Given the description of an element on the screen output the (x, y) to click on. 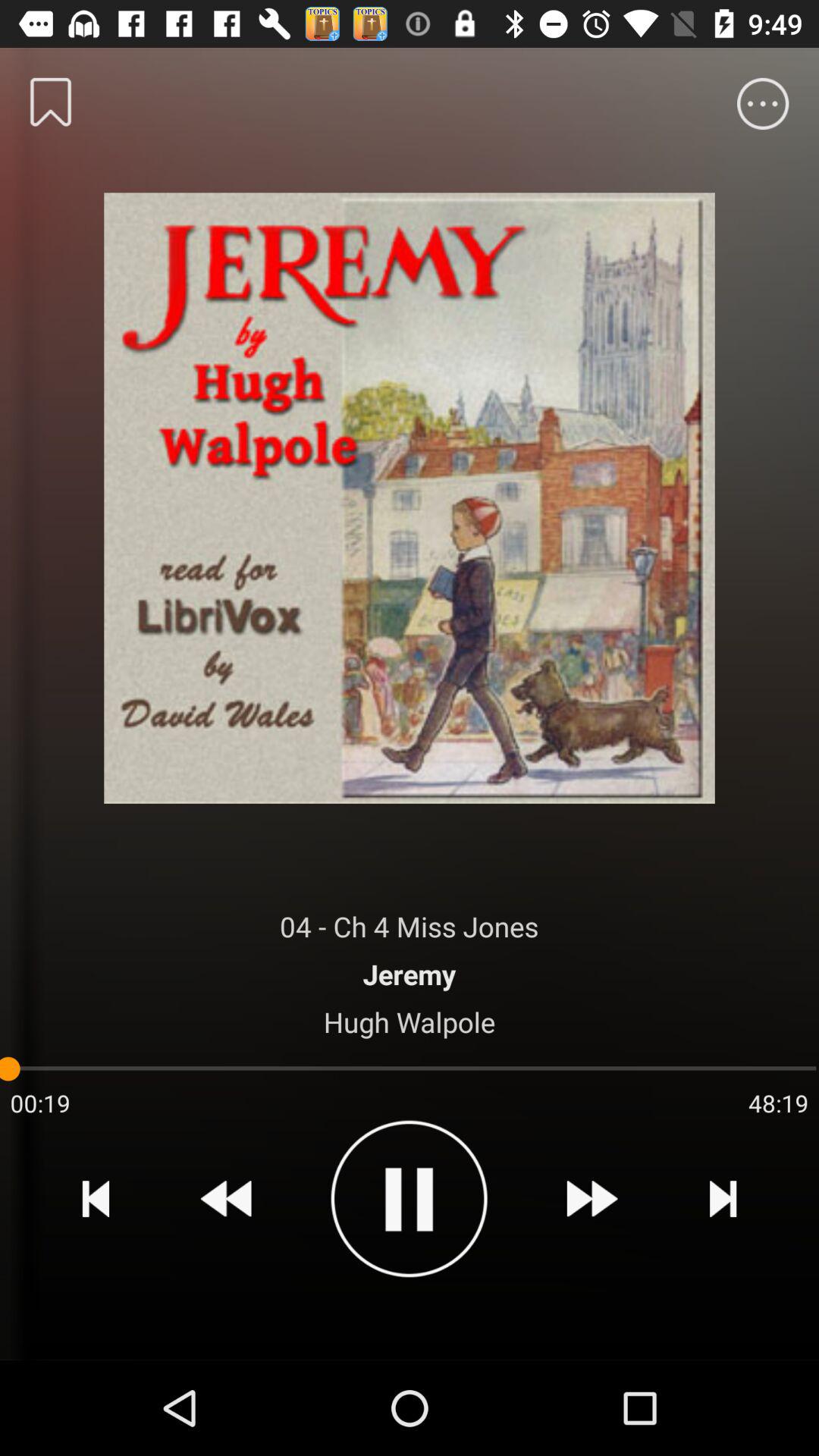
open the item below the 48:19 item (722, 1198)
